Given the description of an element on the screen output the (x, y) to click on. 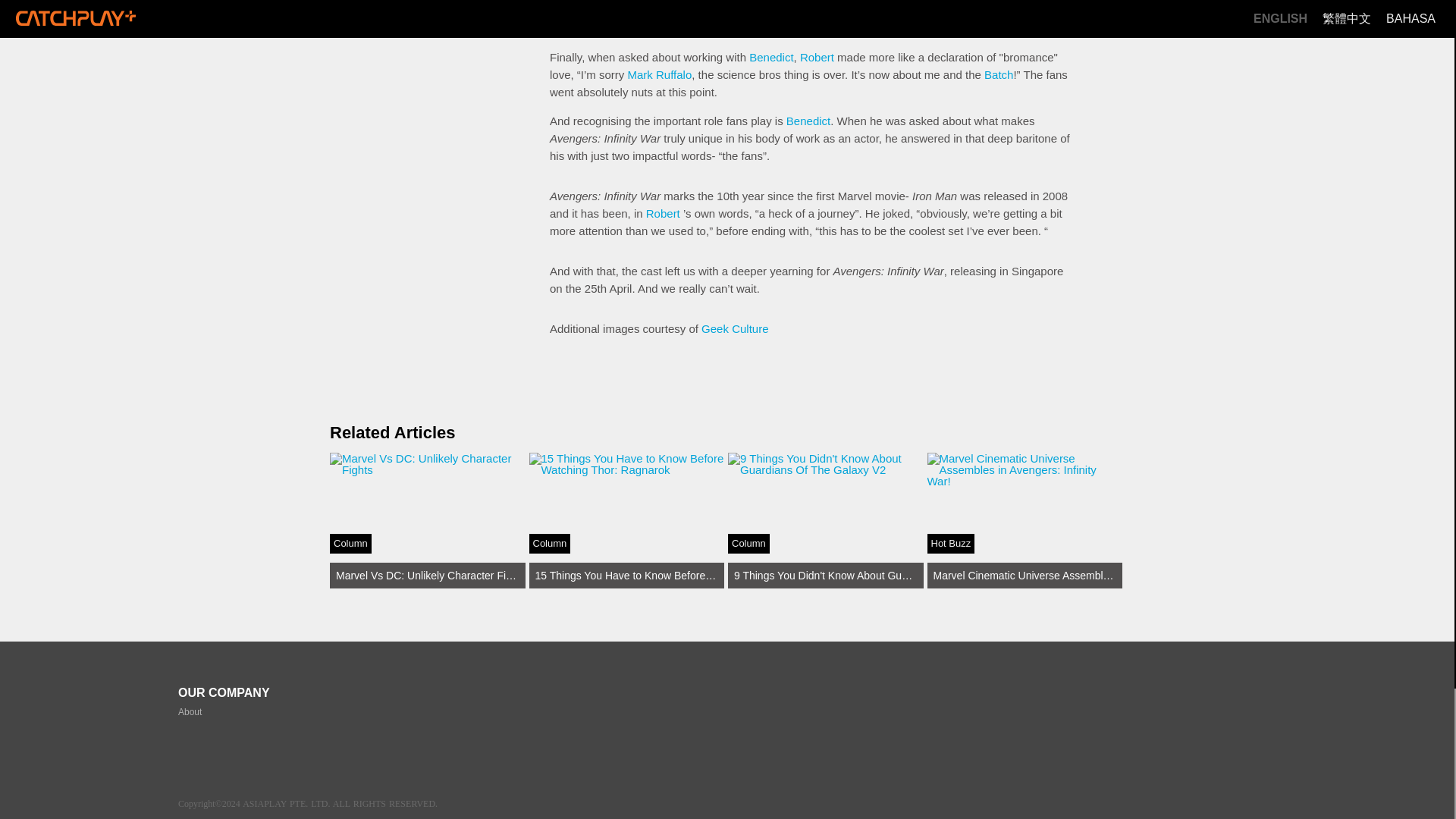
Robert (816, 56)
Batch (998, 74)
Geek Culture (734, 328)
Benedict (771, 56)
Robert (662, 213)
Mark Ruffalo (660, 74)
About (427, 520)
Benedict (189, 711)
